Given the description of an element on the screen output the (x, y) to click on. 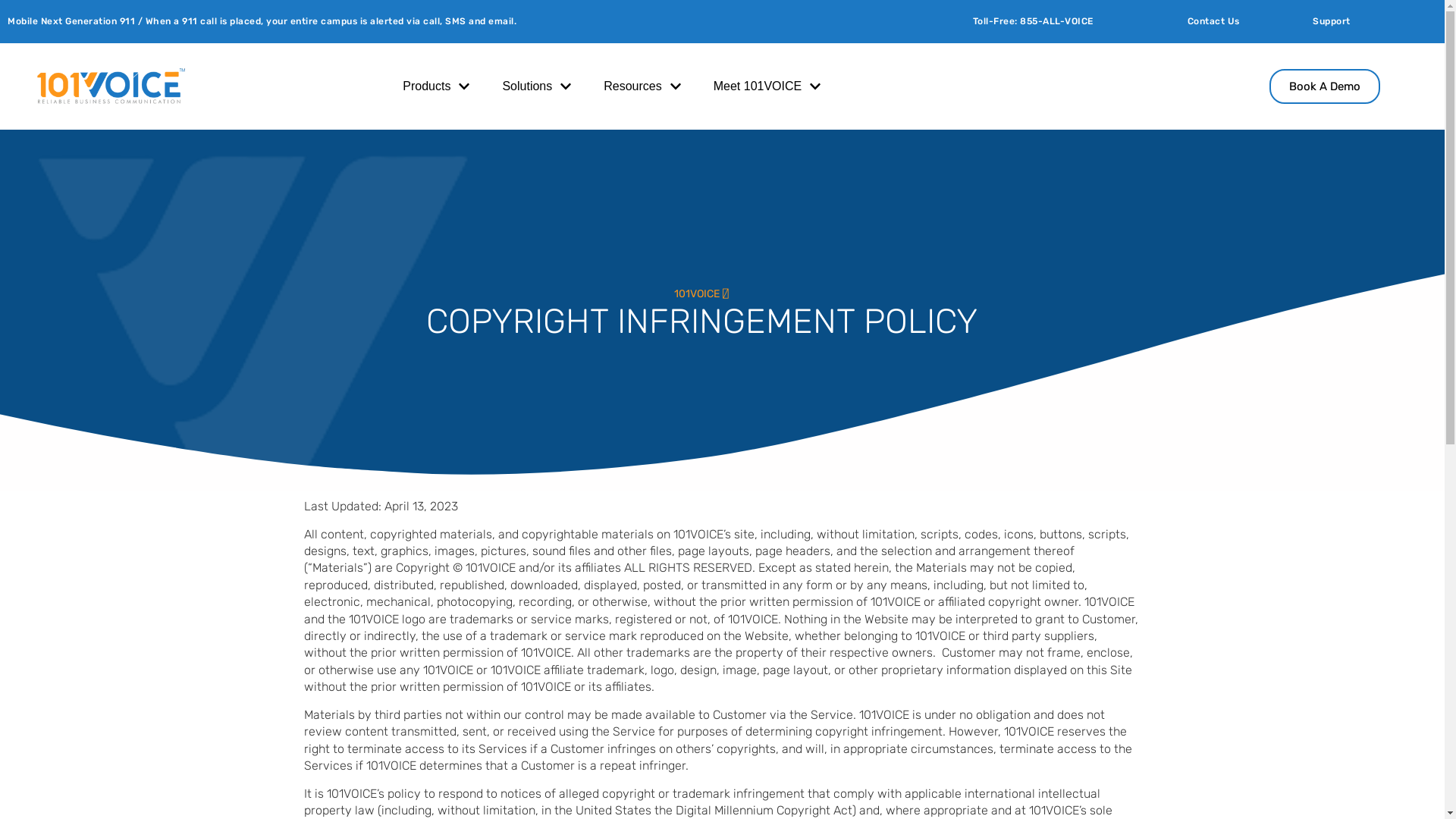
Support Element type: text (1370, 21)
Resources Element type: text (632, 86)
Contact Us Element type: text (1242, 21)
Book A Demo Element type: text (1324, 86)
Meet 101VOICE Element type: text (757, 86)
Solutions Element type: text (527, 86)
Toll-Free: 855-ALL-VOICE Element type: text (1072, 21)
Products Element type: text (426, 86)
